Given the description of an element on the screen output the (x, y) to click on. 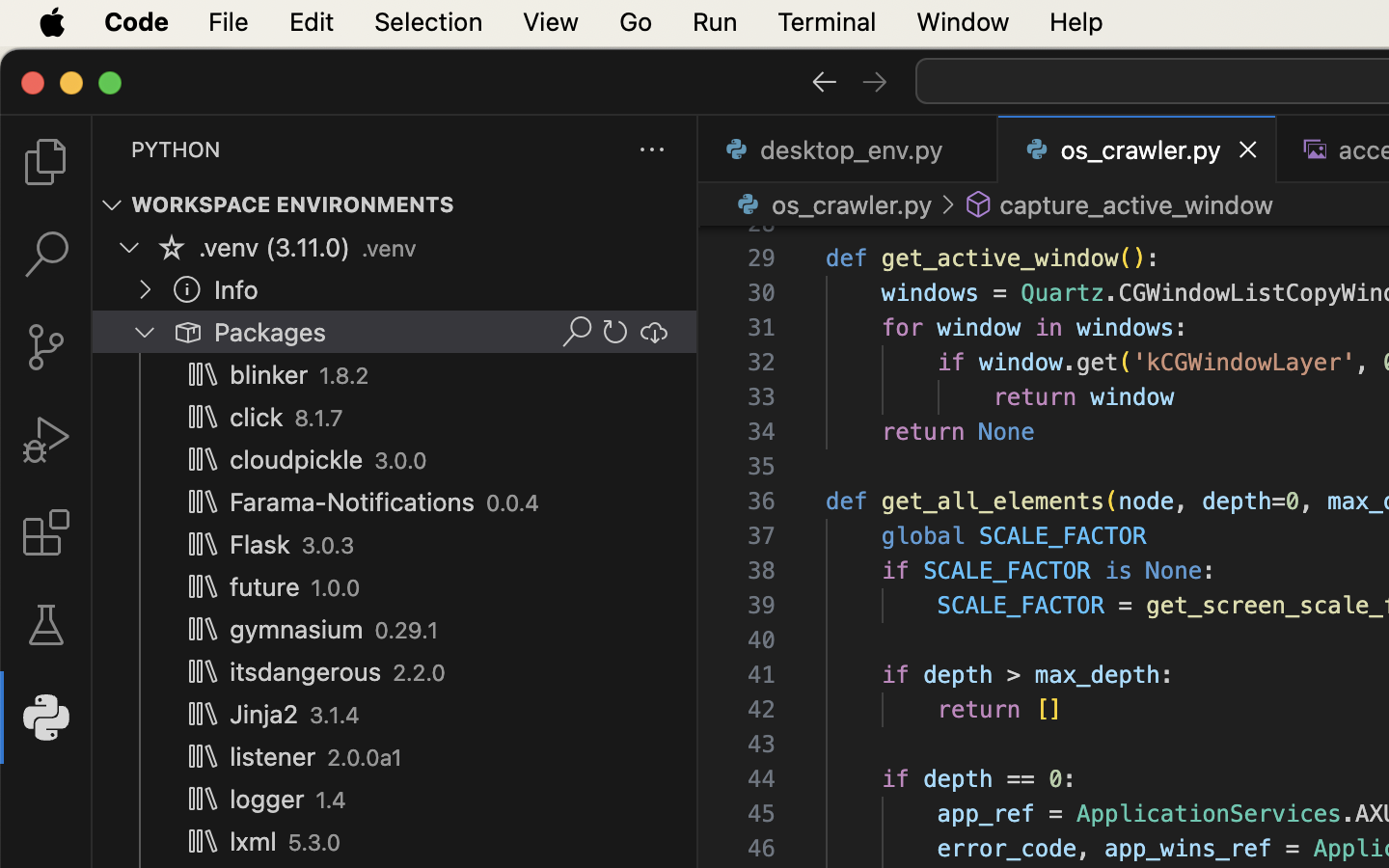
 Element type: AXButton (874, 80)
3.0.0 Element type: AXStaticText (401, 460)
1.4 Element type: AXStaticText (331, 799)
 Element type: AXStaticText (978, 204)
0  Element type: AXRadioButton (46, 161)
